Given the description of an element on the screen output the (x, y) to click on. 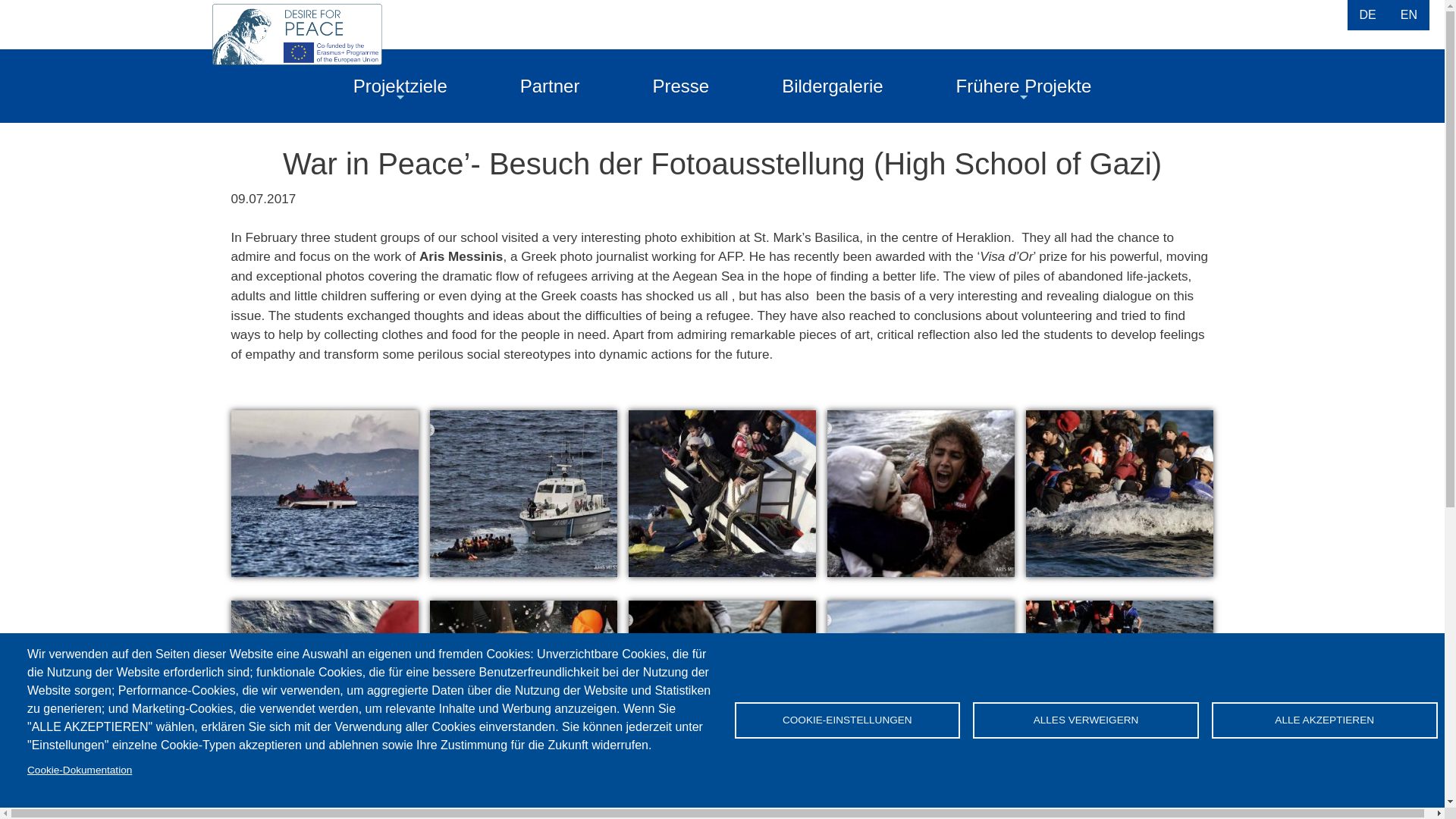
EN (1408, 14)
DE (1367, 14)
Startseite (296, 43)
Bildergalerie (831, 85)
Projektziele (399, 85)
Presse (679, 85)
Partner (550, 85)
